Given the description of an element on the screen output the (x, y) to click on. 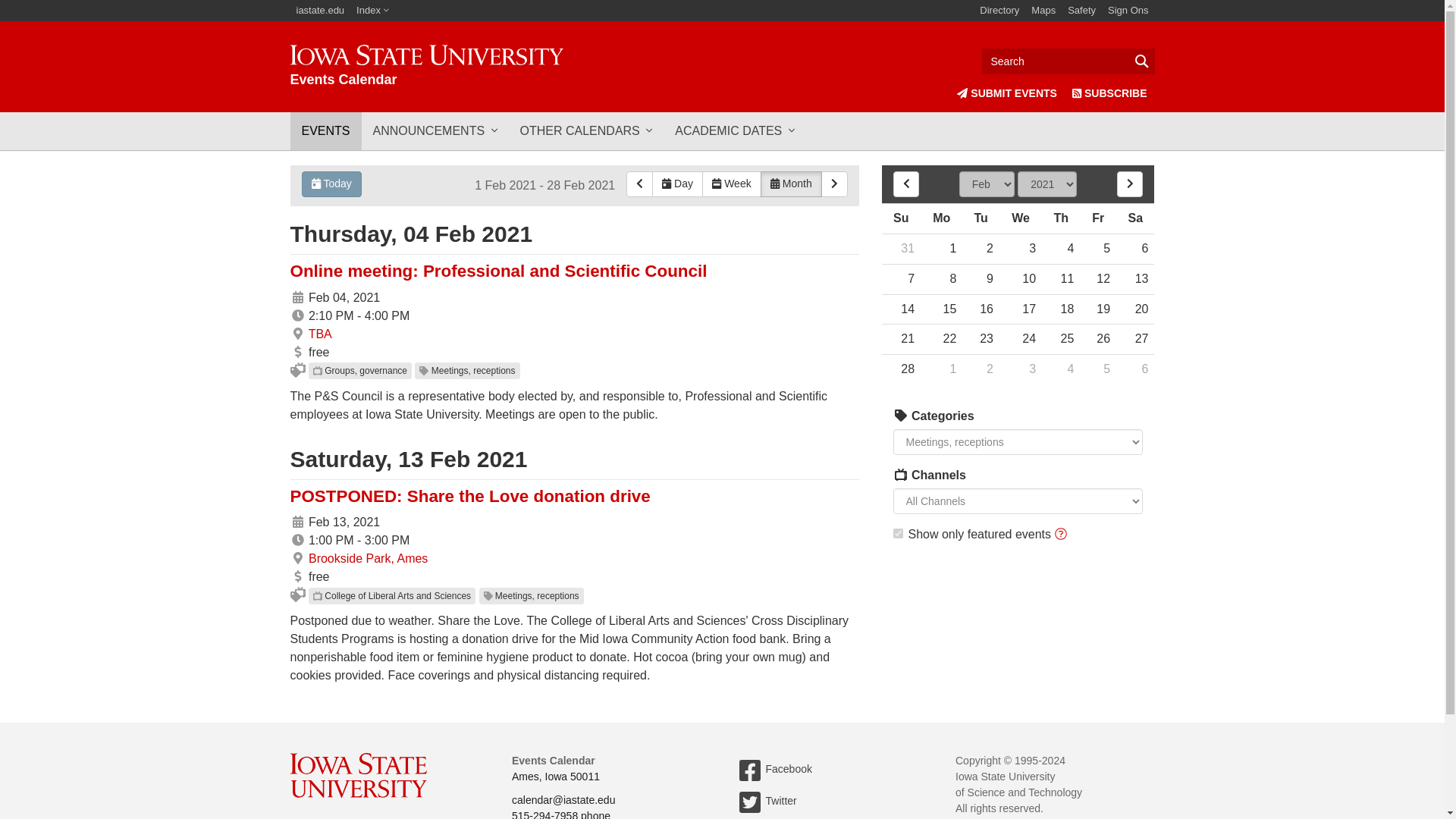
Date (296, 521)
1 (897, 533)
Categories (900, 415)
Categories (900, 474)
Date (296, 297)
Location (296, 333)
Safety (1081, 10)
Location (296, 333)
Sign Ons (1128, 10)
Categories (900, 474)
